Given the description of an element on the screen output the (x, y) to click on. 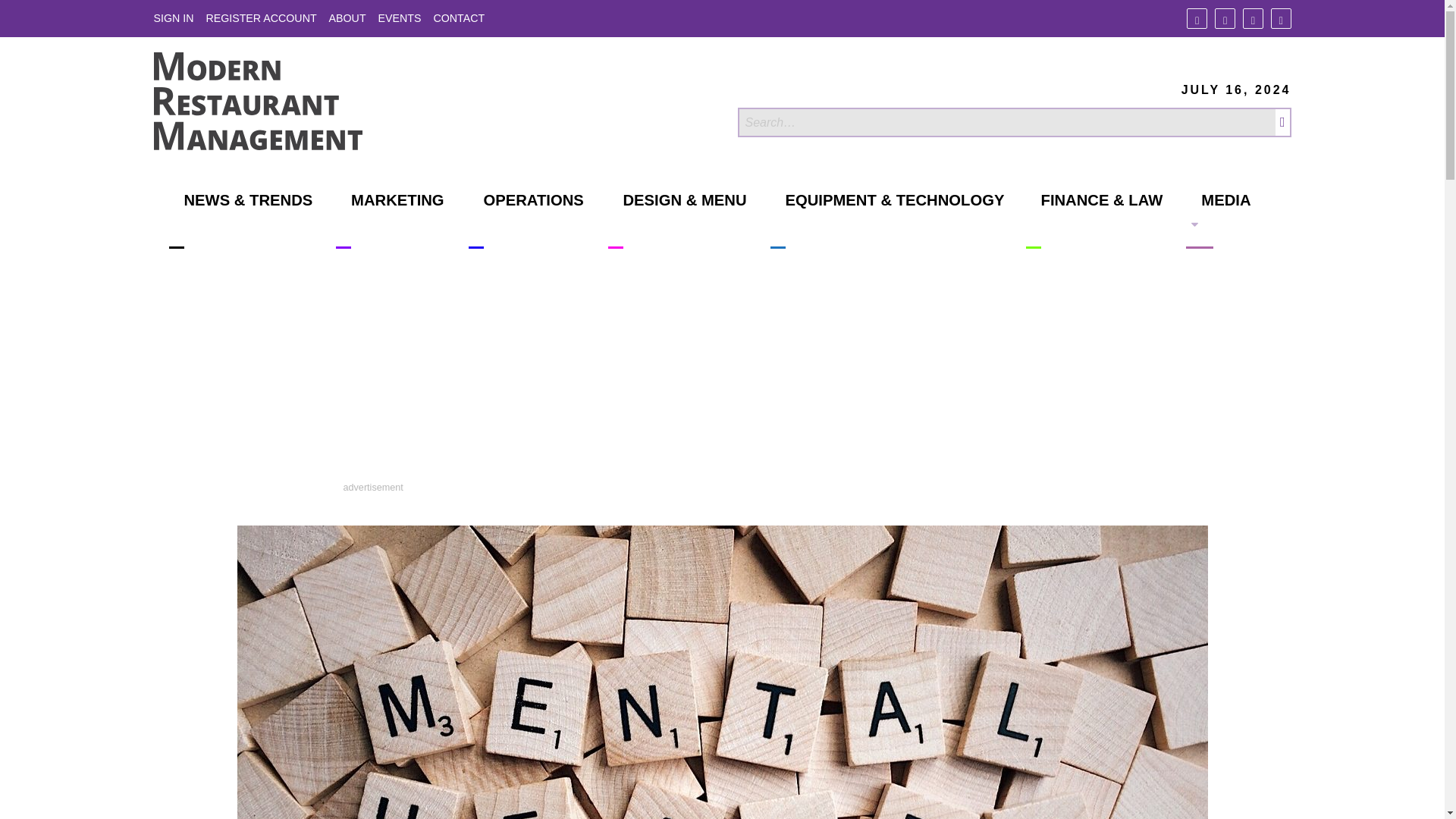
EVENTS (400, 18)
Search (1005, 122)
MEDIA (1218, 219)
REGISTER ACCOUNT (260, 18)
ABOUT (347, 18)
Linkedin (1253, 18)
Facebook (1196, 18)
Twitter (1224, 18)
MARKETING (390, 219)
OPERATIONS (525, 219)
Youtube (1281, 18)
CONTACT (458, 18)
SIGN IN (172, 18)
